Given the description of an element on the screen output the (x, y) to click on. 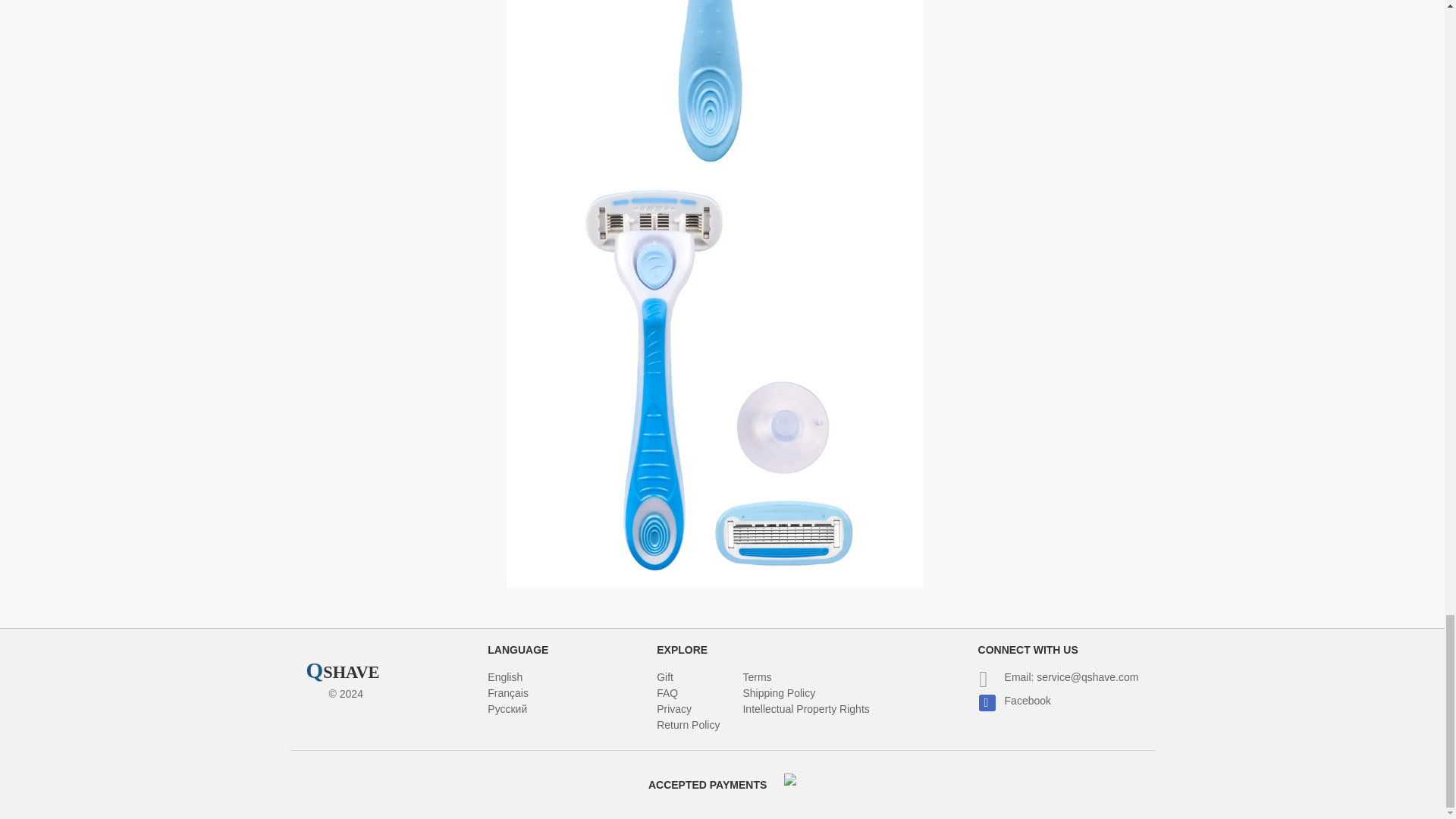
FAQ (667, 693)
English (504, 676)
QSHAVE (342, 671)
Gift (664, 676)
